Given the description of an element on the screen output the (x, y) to click on. 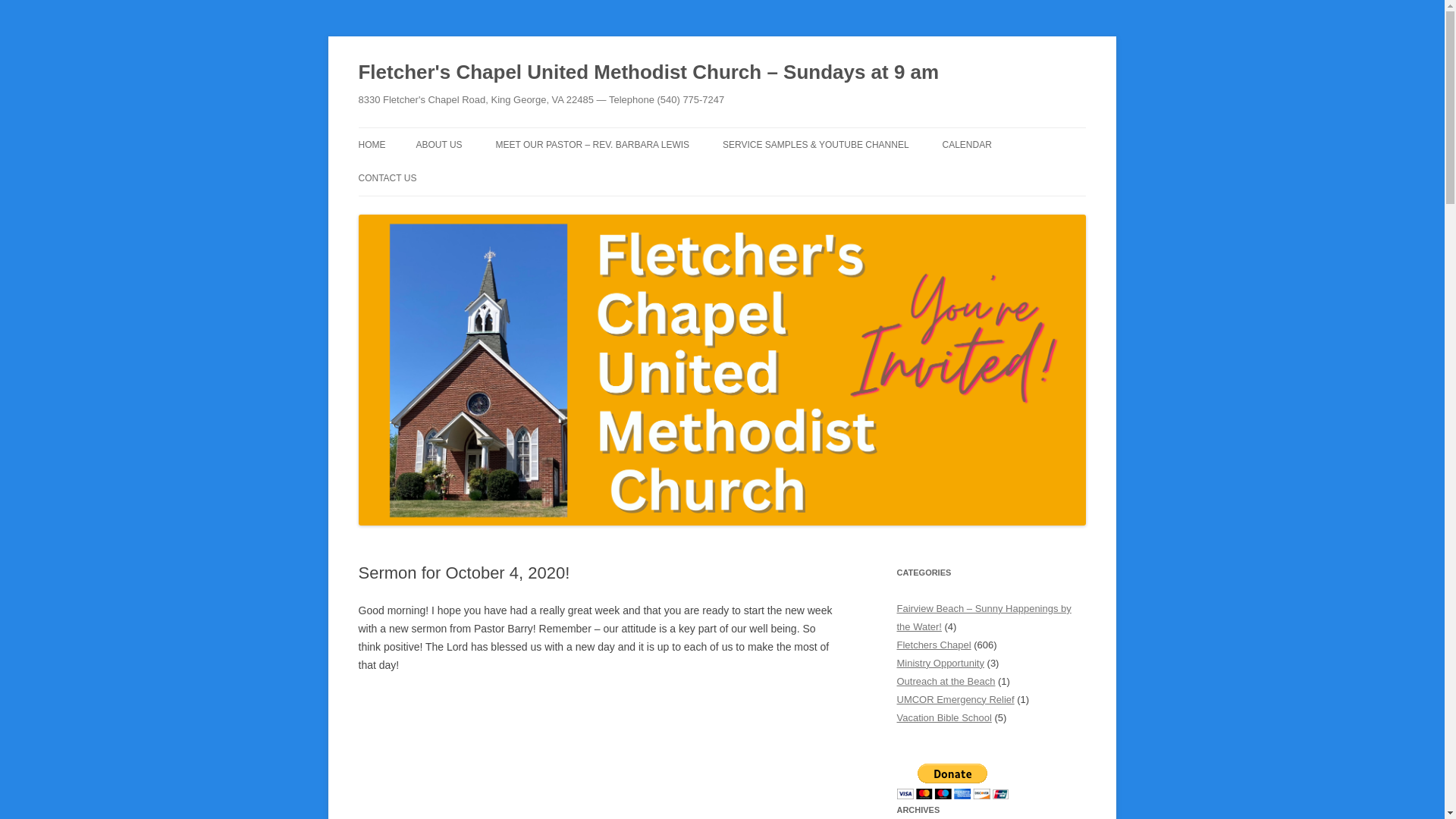
WHAT TO EXPECT WHEN YOU VISIT (490, 185)
ABOUT US (437, 144)
Ministry Opportunity (940, 663)
Outreach at the Beach (945, 681)
Fletchers Chapel (933, 644)
Vacation Bible School (943, 717)
CALENDAR (966, 144)
UMCOR Emergency Relief (954, 699)
CONTACT US (387, 177)
Sermon for October 4, 2020 (594, 755)
